Given the description of an element on the screen output the (x, y) to click on. 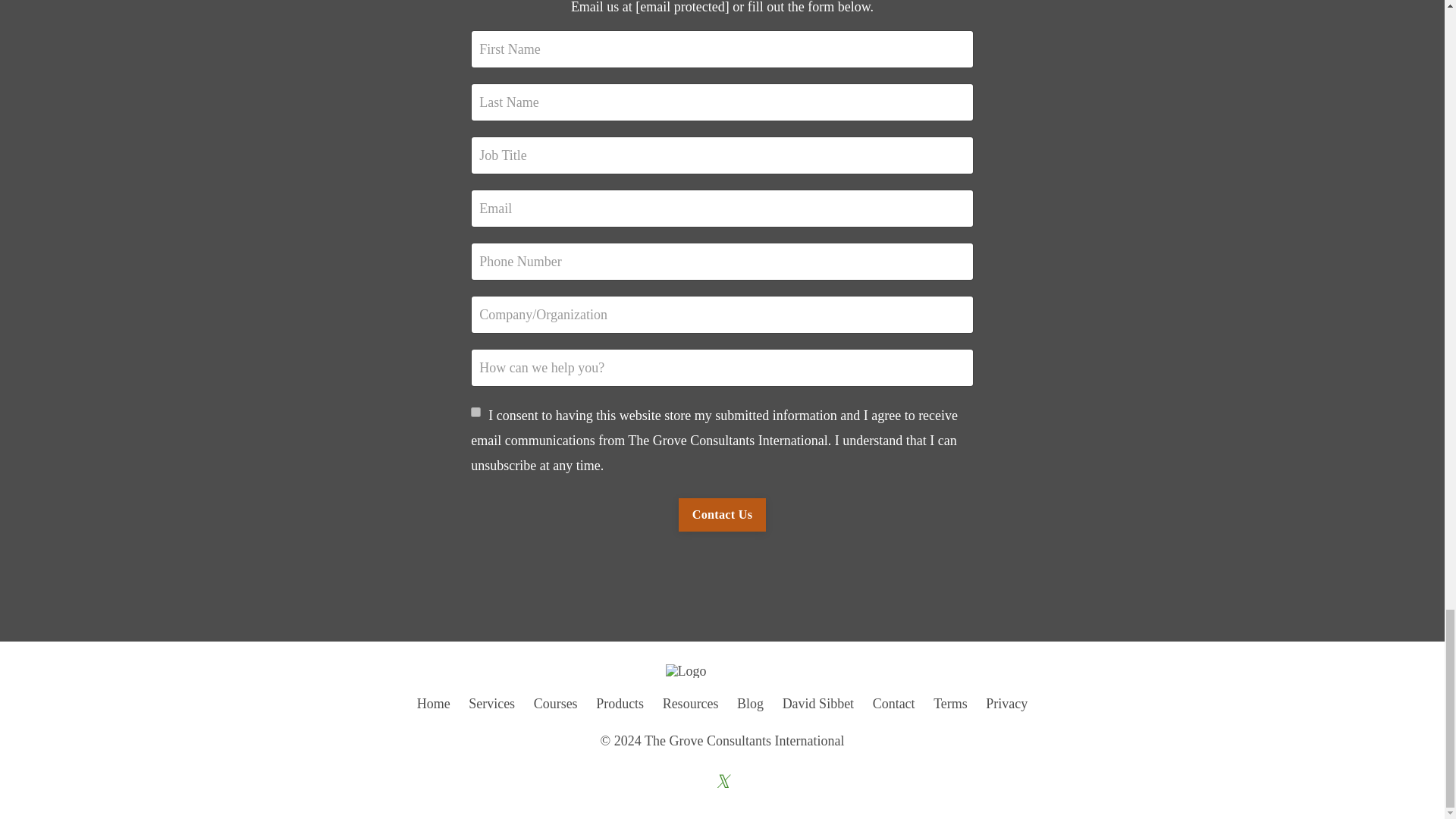
Contact Us (721, 514)
Home (432, 703)
Services (491, 703)
1 (475, 411)
